Given the description of an element on the screen output the (x, y) to click on. 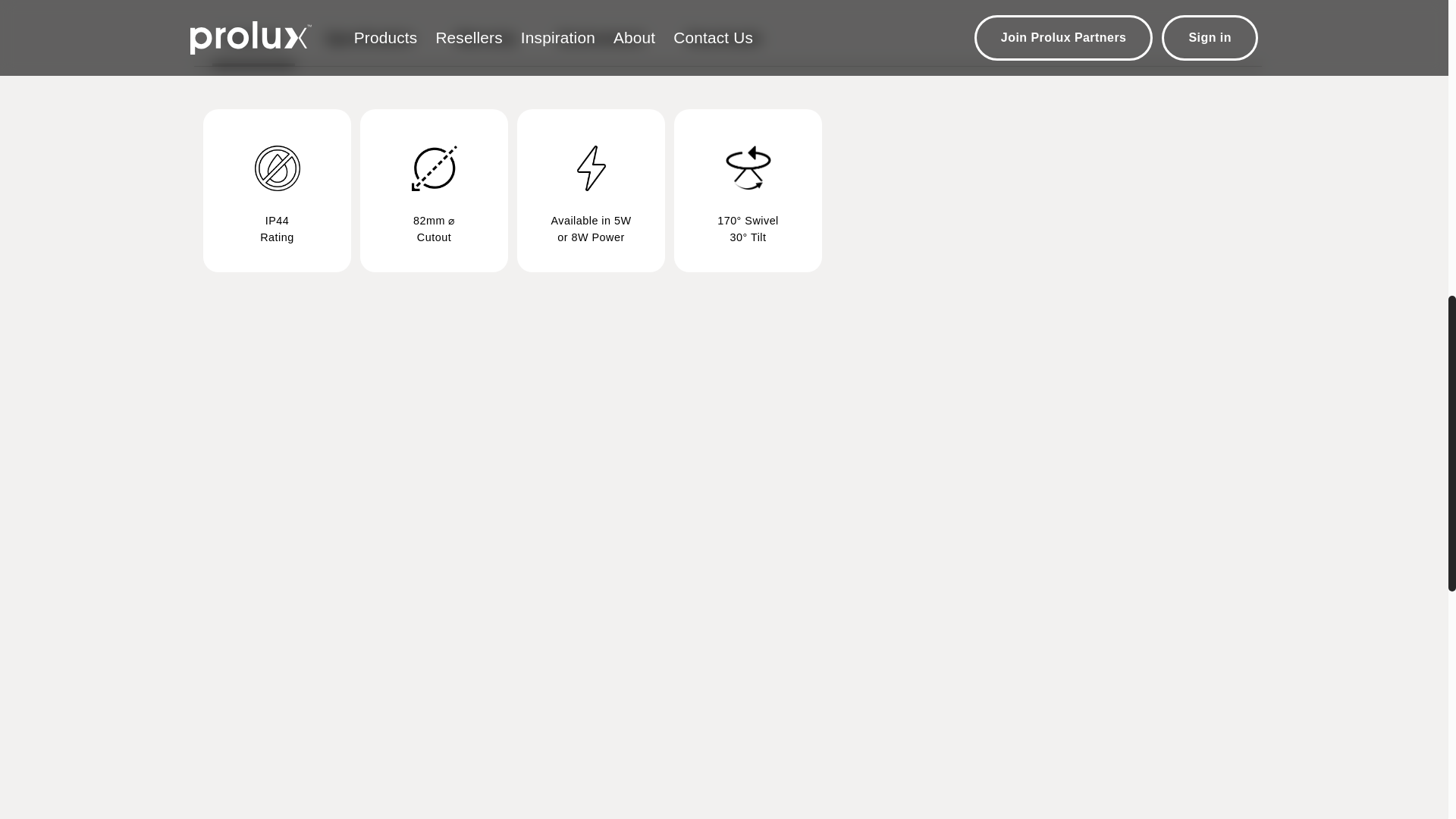
Downloads (727, 44)
Warranty (724, 44)
Environment (486, 44)
Features (601, 44)
Specification (253, 44)
